Given the description of an element on the screen output the (x, y) to click on. 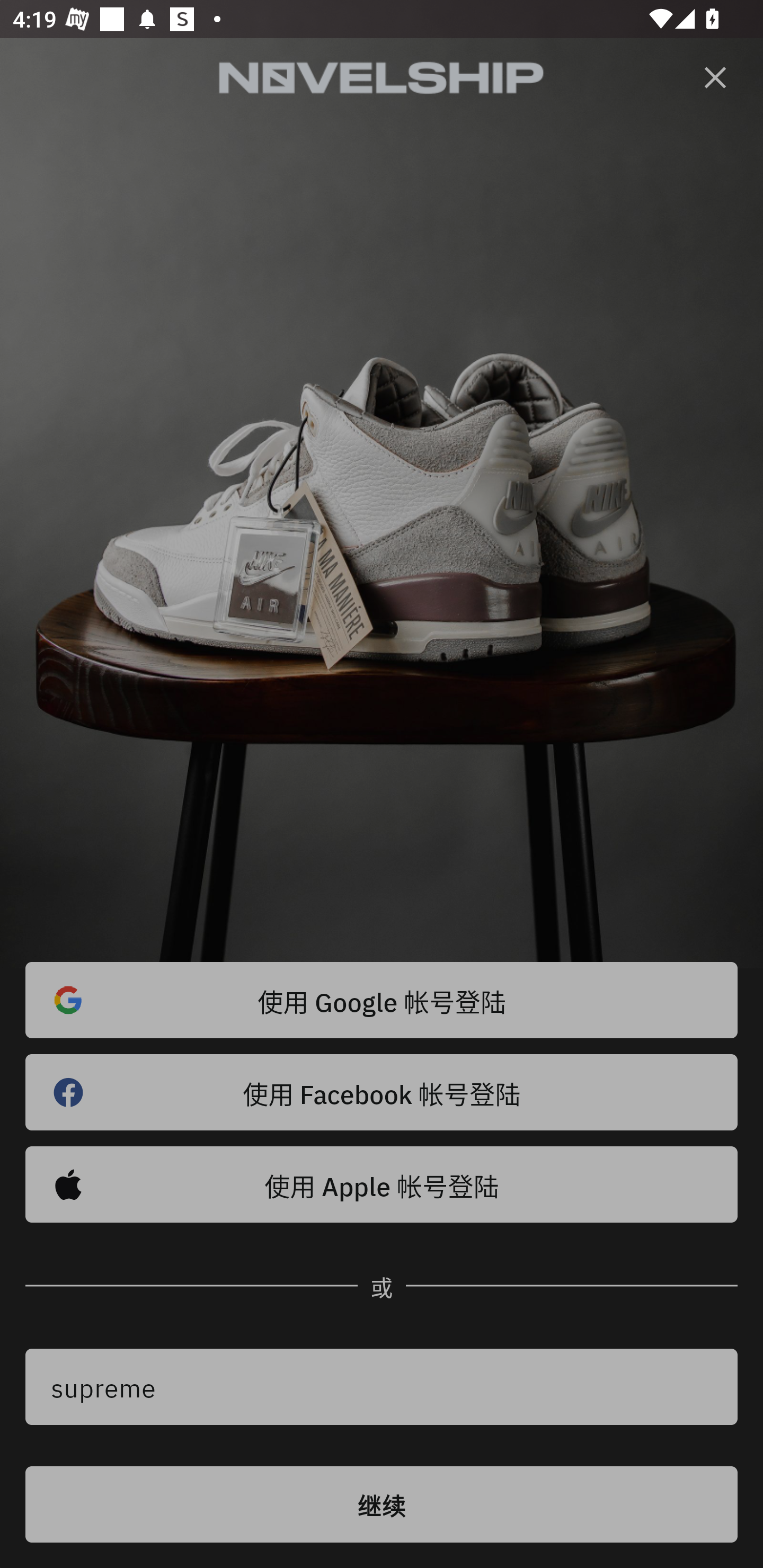
使用 Google 帐号登陆 (381, 1000)
使用 Facebook 帐号登陆 󰈌 (381, 1091)
 使用 Apple 帐号登陆 (381, 1184)
supreme (381, 1386)
继续 (381, 1504)
